Given the description of an element on the screen output the (x, y) to click on. 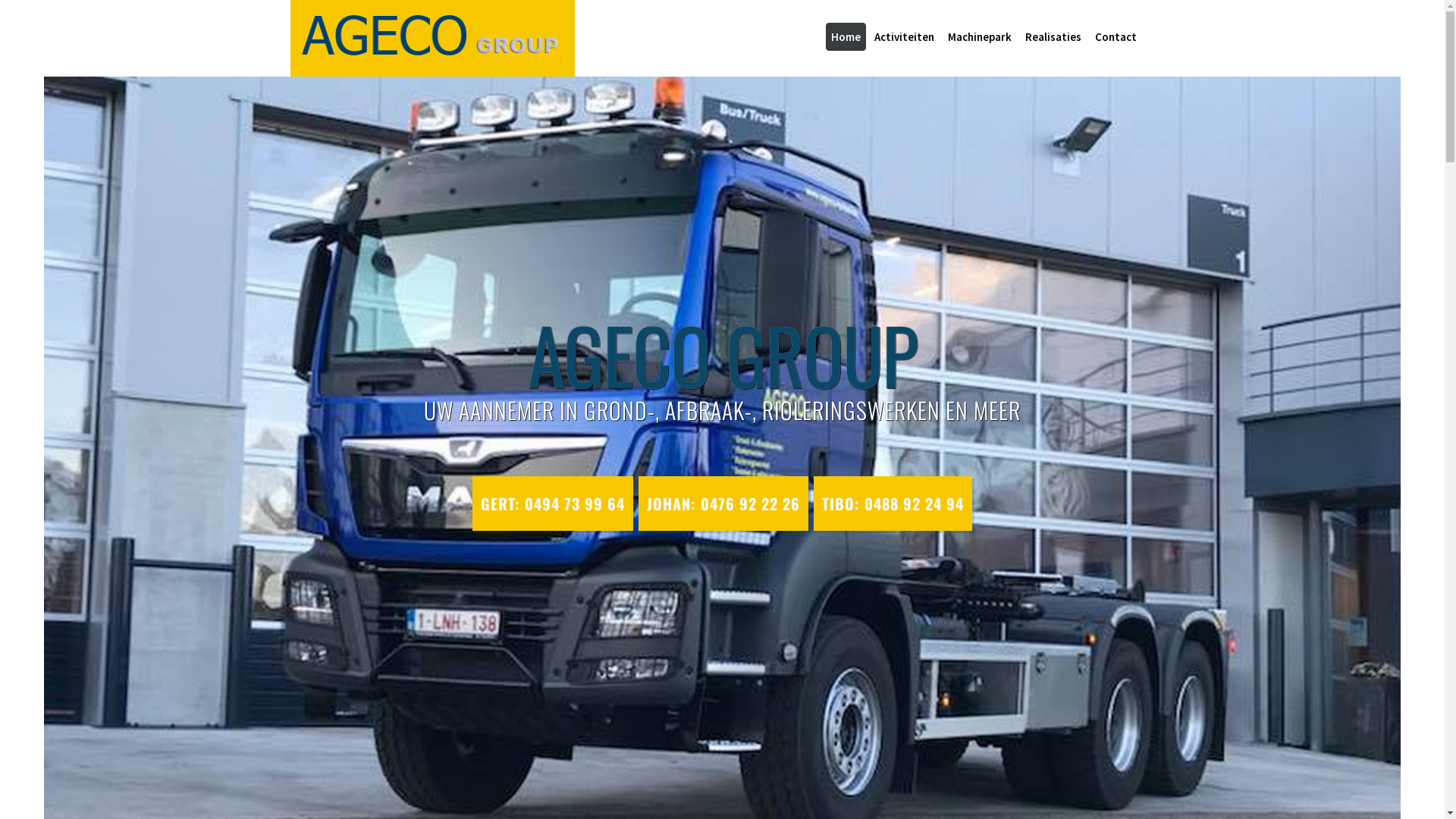
Realisaties Element type: text (1052, 36)
Machinepark Element type: text (978, 36)
JOHAN: 0476 92 22 26 Element type: text (723, 503)
TIBO: 0488 92 24 94 Element type: text (892, 503)
Contact Element type: text (1114, 36)
Activiteiten Element type: text (904, 36)
Home Element type: text (845, 36)
GERT: 0494 73 99 64 Element type: text (552, 503)
